Given the description of an element on the screen output the (x, y) to click on. 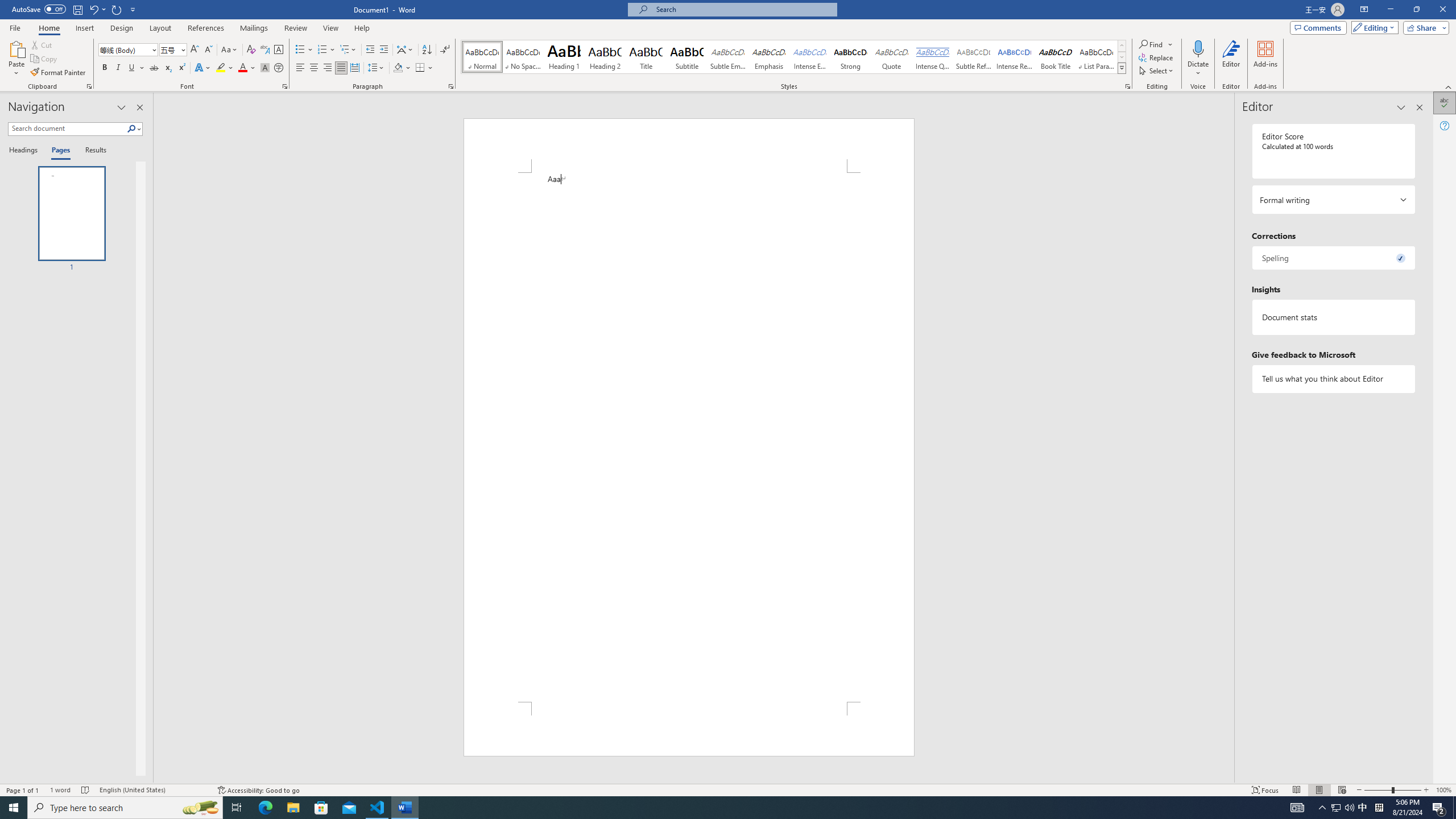
Cut (42, 44)
Share (1423, 27)
Zoom 100% (1443, 790)
Shading (402, 67)
Page Number Page 1 of 1 (22, 790)
Borders (424, 67)
Styles... (1127, 85)
Dictate (1197, 58)
Font Color (246, 67)
Help (1444, 125)
Font Size (172, 49)
Strong (849, 56)
Intense Reference (1014, 56)
Search (131, 128)
